Given the description of an element on the screen output the (x, y) to click on. 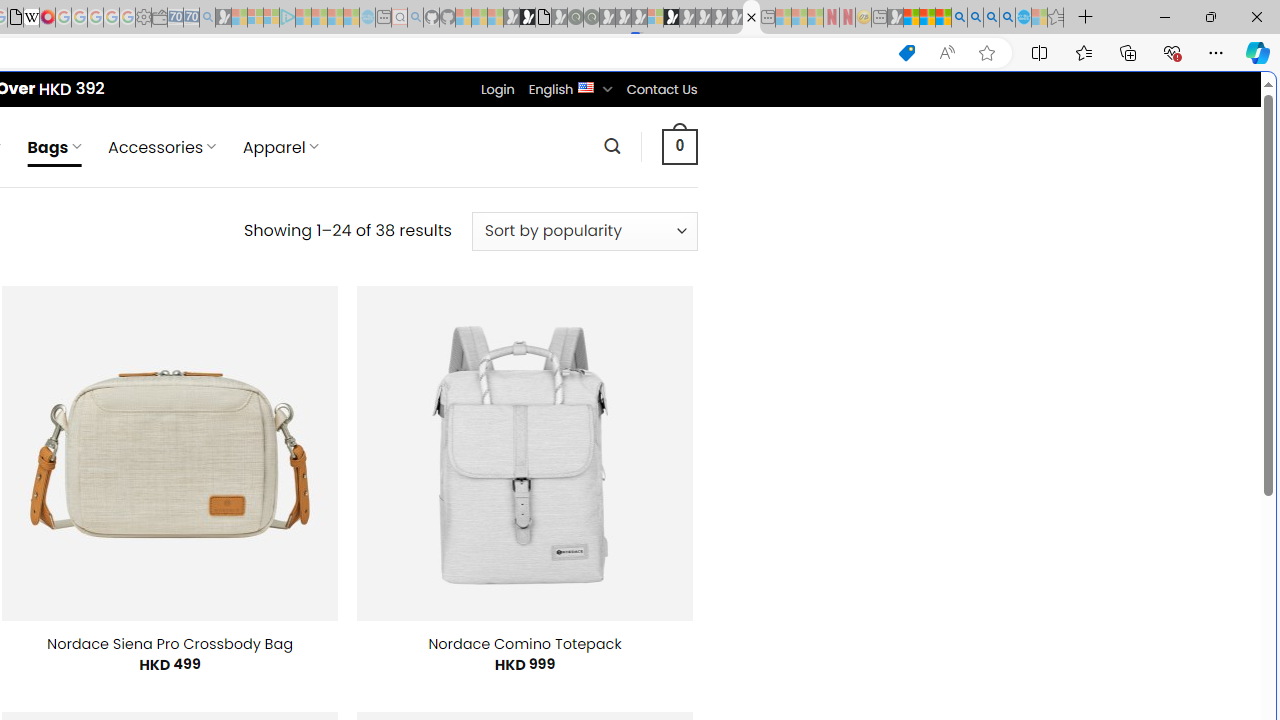
Login (497, 89)
Shop order (584, 231)
English (586, 86)
Login (497, 89)
